Given the description of an element on the screen output the (x, y) to click on. 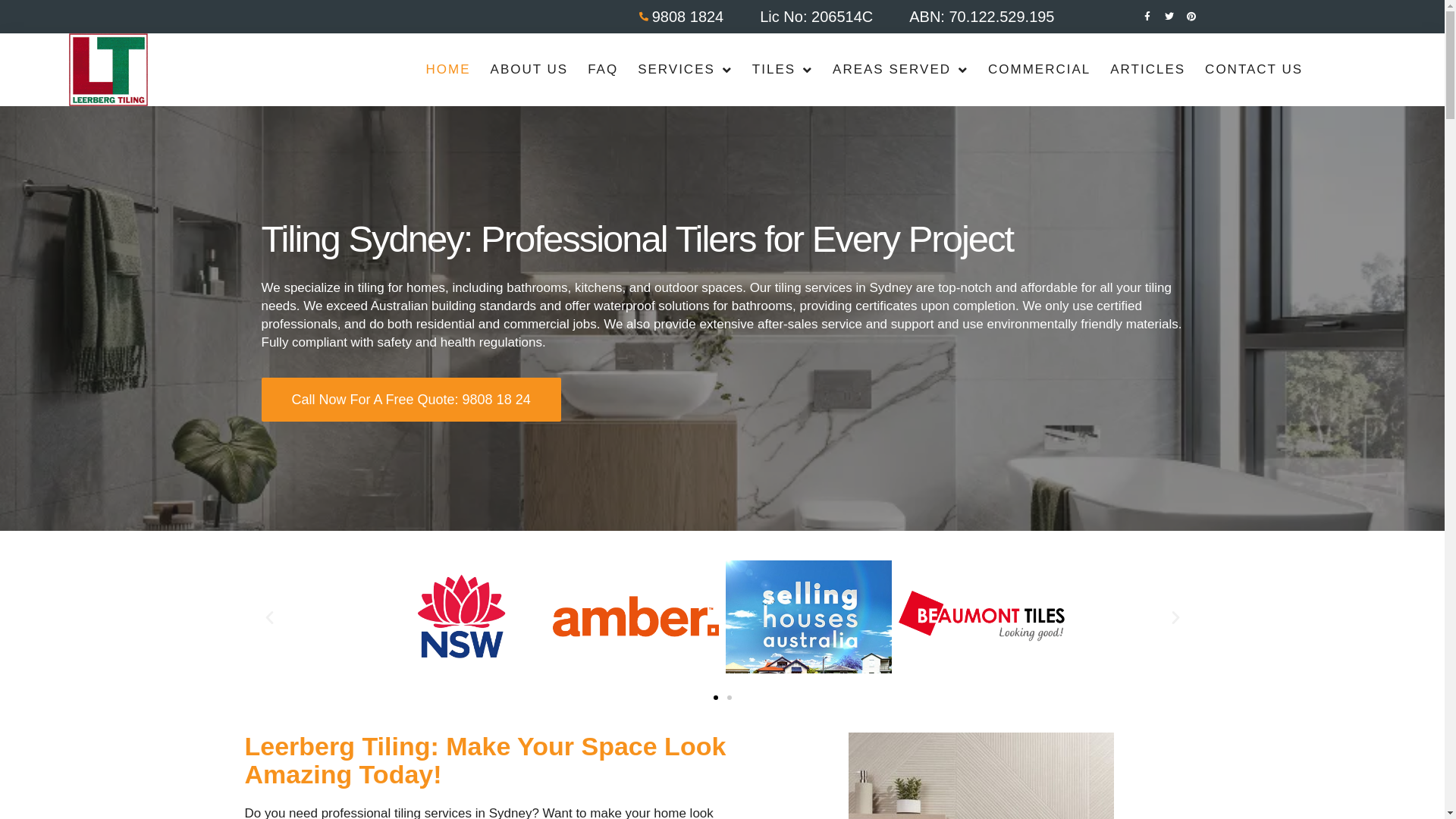
COMMERCIAL Element type: text (1039, 69)
CONTACT US Element type: text (1253, 69)
Call Now For A Free Quote: 9808 18 24 Element type: text (410, 399)
SERVICES Element type: text (684, 69)
HOME Element type: text (448, 69)
ARTICLES Element type: text (1147, 69)
FAQ Element type: text (602, 69)
ABOUT US Element type: text (529, 69)
AREAS SERVED Element type: text (900, 69)
TILES Element type: text (782, 69)
